Given the description of an element on the screen output the (x, y) to click on. 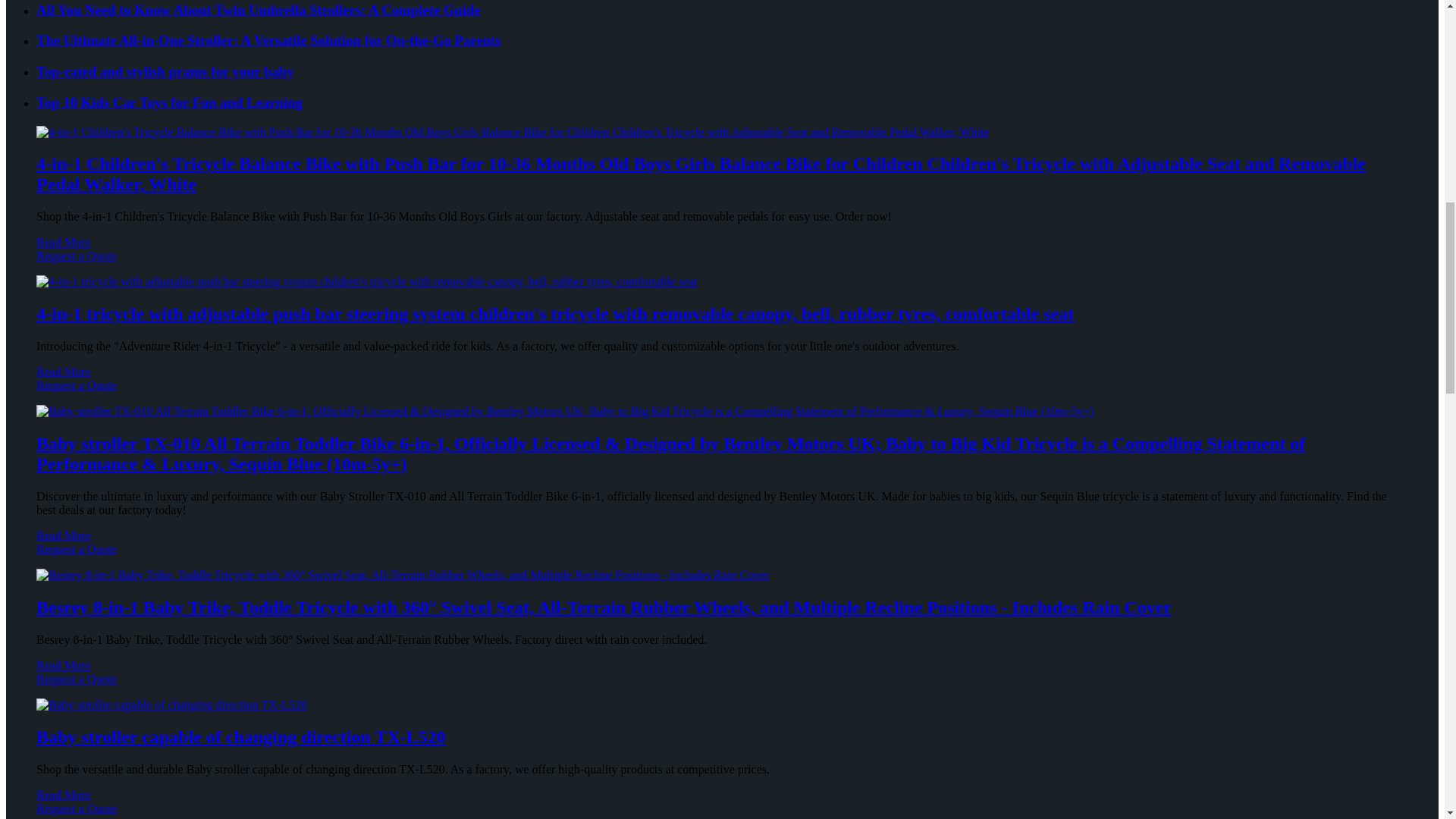
Request a Quote (721, 556)
Request a Quote (721, 392)
Read More (63, 241)
Read More (63, 371)
Request a Quote (721, 262)
Read More (63, 535)
